Given the description of an element on the screen output the (x, y) to click on. 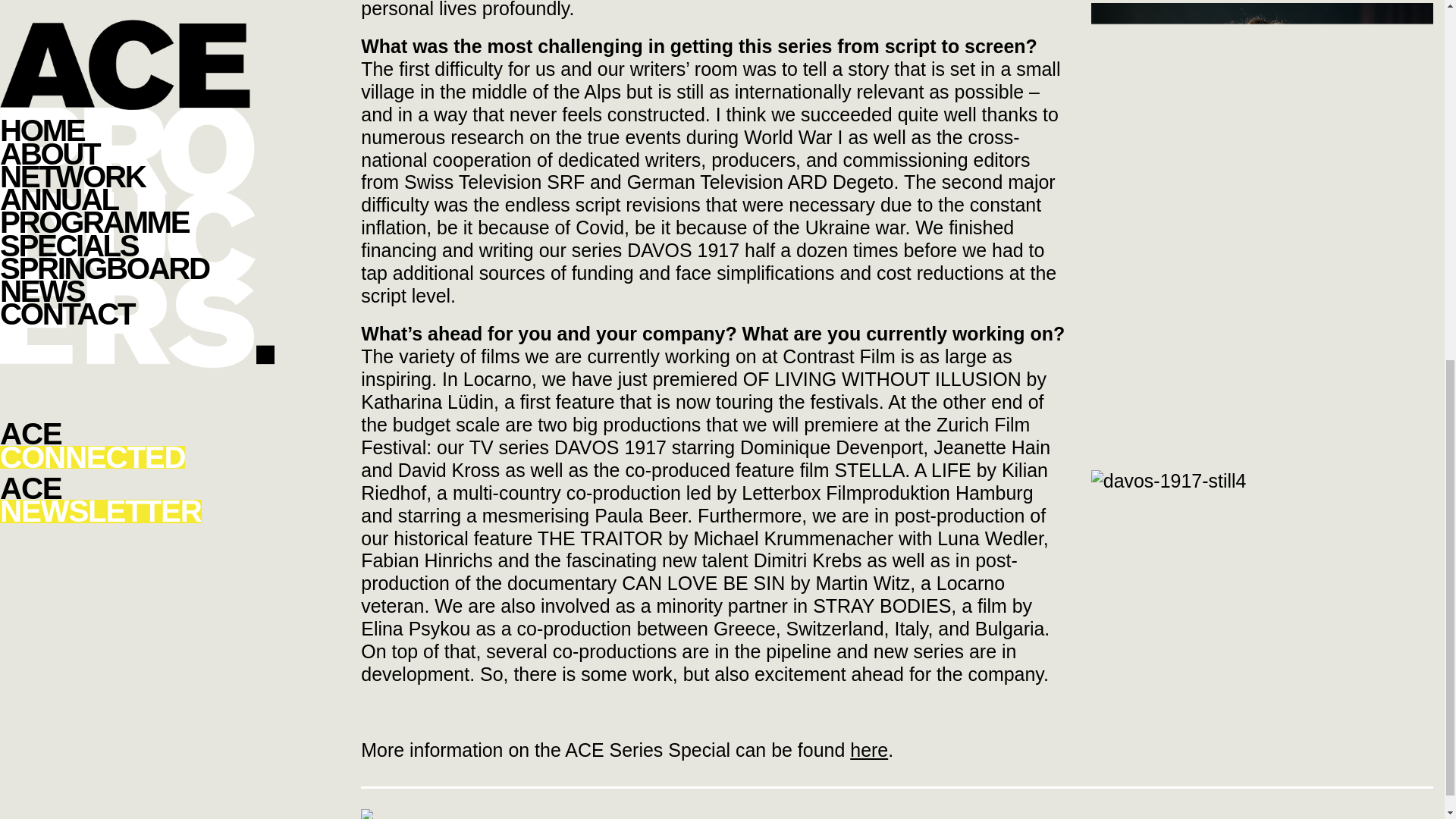
davos-1917-still4 (1168, 480)
davos-1917-still4 (1168, 481)
davos-1917-still3 (1261, 350)
davos-1917-still3 (1261, 457)
davos-1917-still2 (1261, 116)
davos-1917-still2 (1261, 224)
here (869, 749)
